Given the description of an element on the screen output the (x, y) to click on. 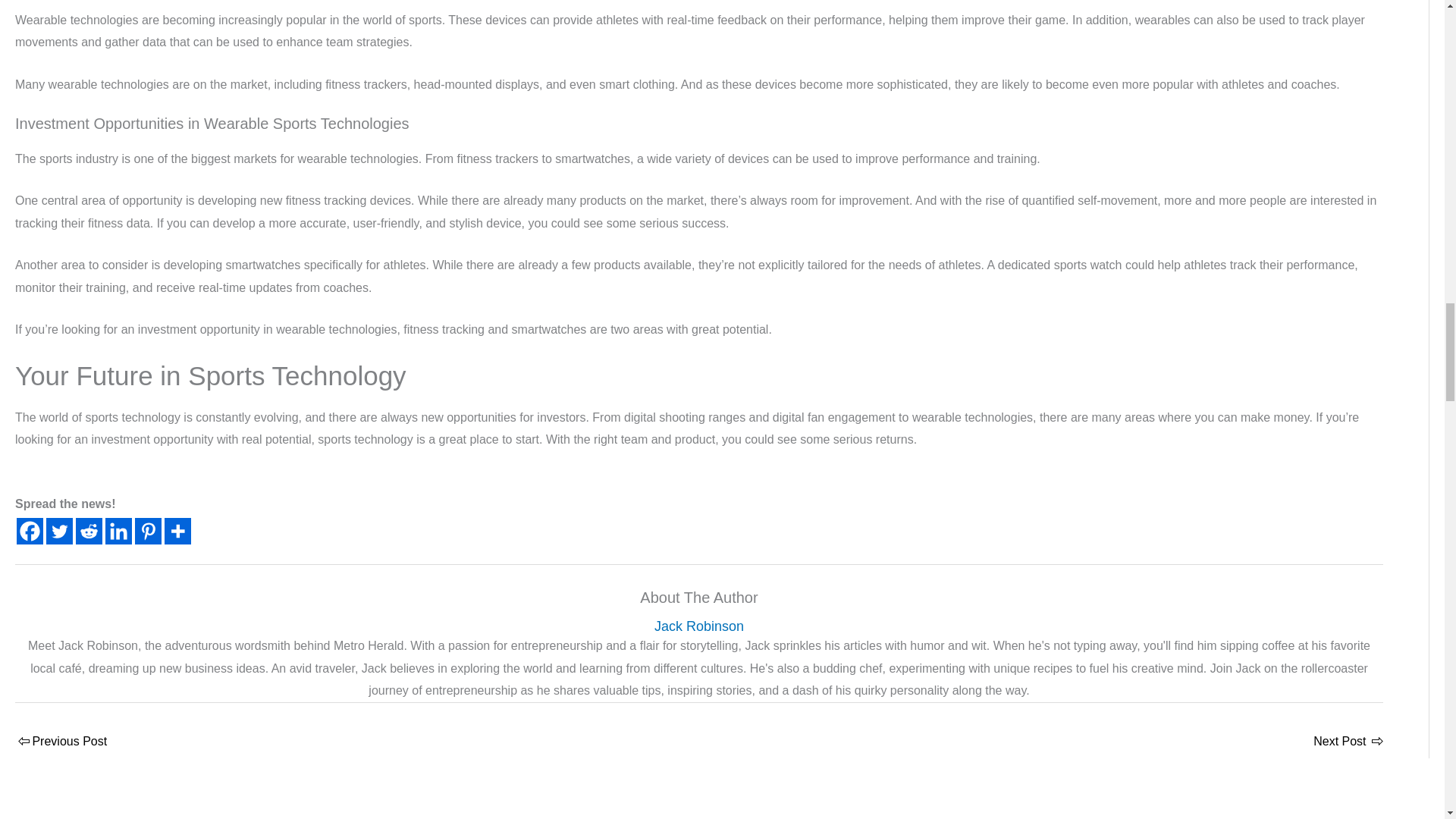
Next Post (1347, 742)
Linkedin (118, 530)
Facebook (29, 530)
Jack Robinson (698, 626)
Reddit (88, 530)
Previous Post (61, 742)
Twitter (59, 530)
